Given the description of an element on the screen output the (x, y) to click on. 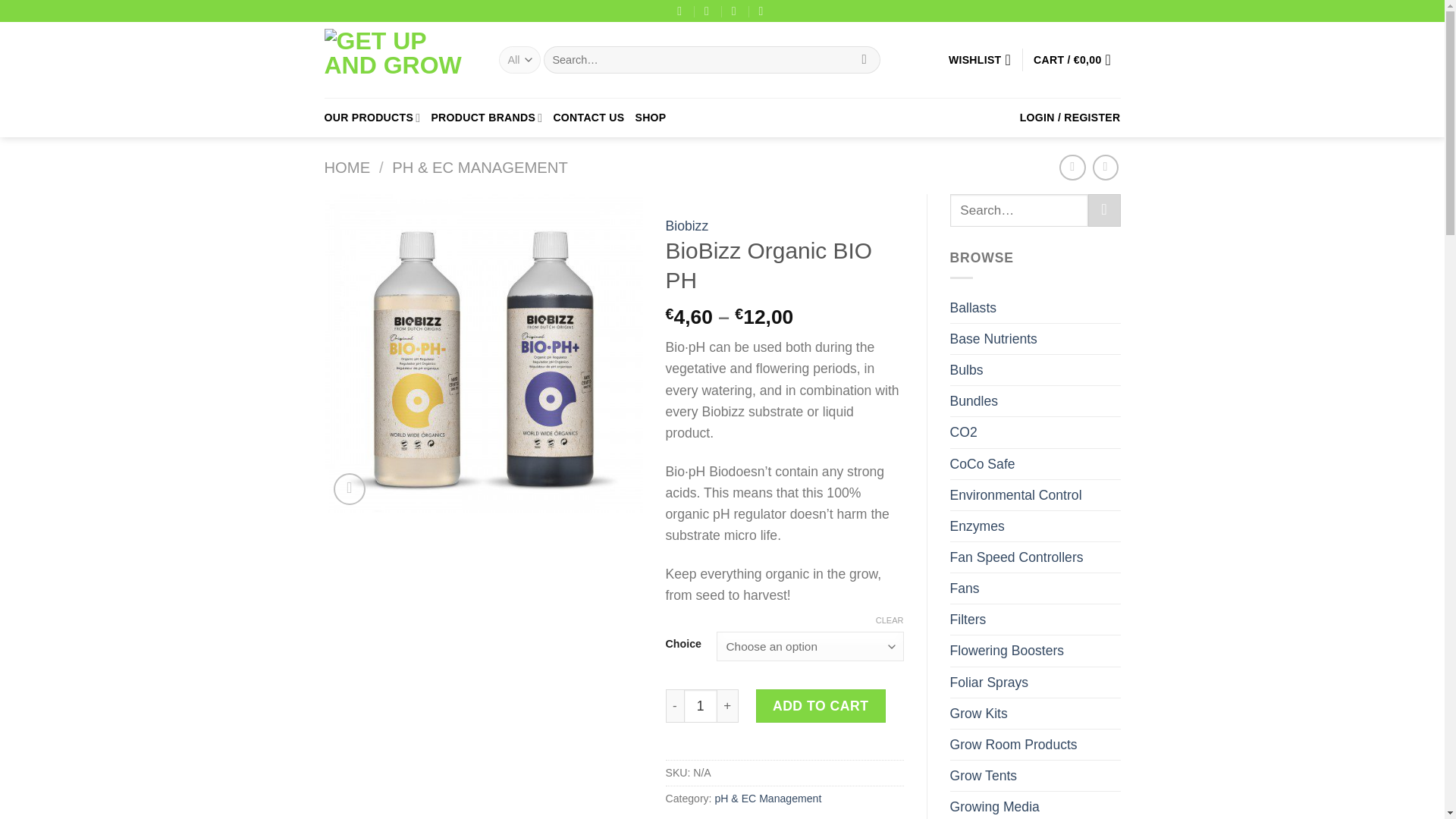
1 (700, 705)
Search (863, 59)
WISHLIST (979, 59)
Wishlist (979, 59)
Get Up and Grow - The one stop grow shop (400, 59)
Login (1070, 117)
Cart (1076, 59)
OUR PRODUCTS (372, 117)
